Given the description of an element on the screen output the (x, y) to click on. 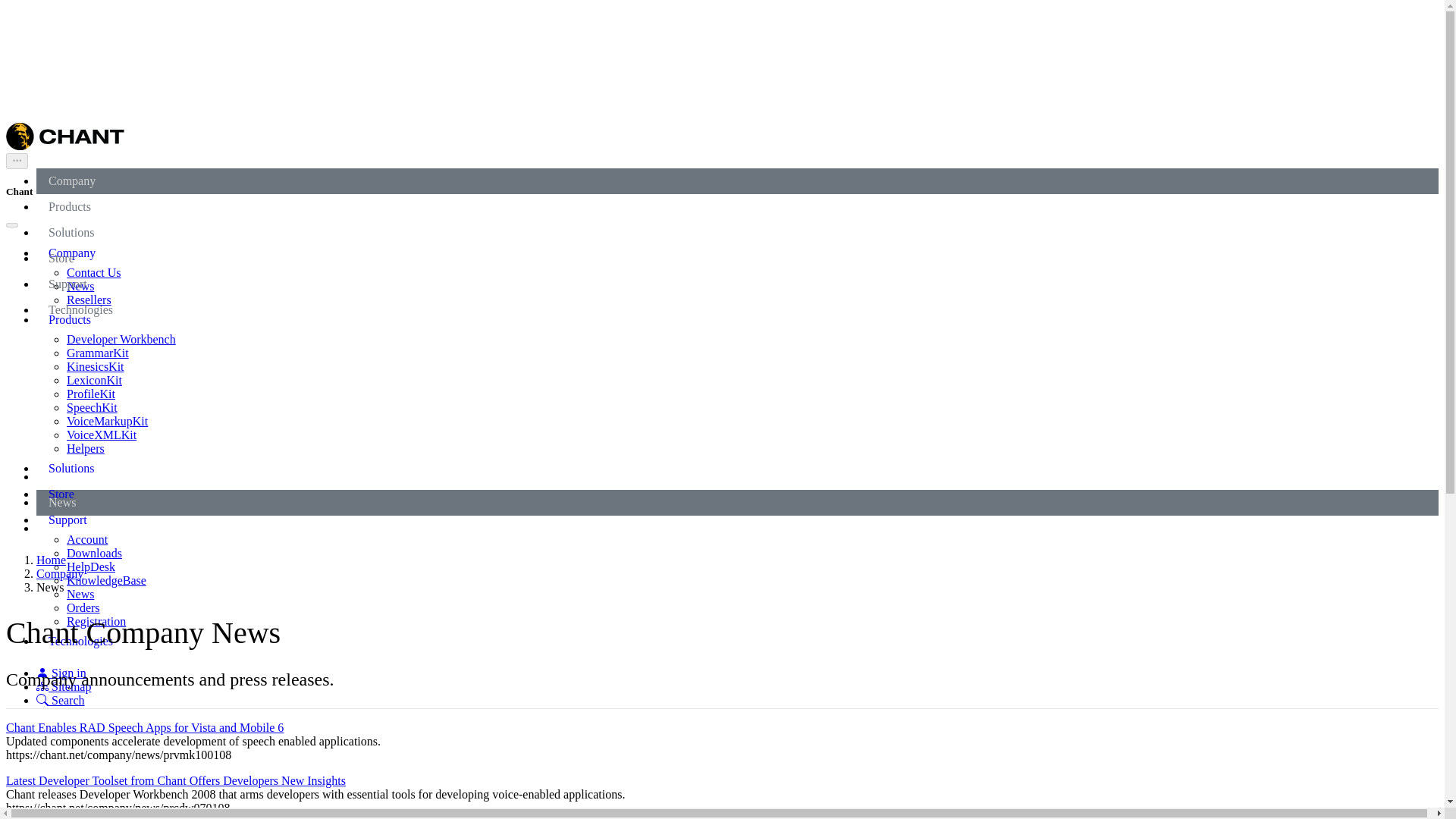
Contact Us (93, 272)
Sign in (60, 672)
Sitemap (63, 686)
News (80, 594)
SpeechKit (91, 407)
Sitemap (63, 686)
VoiceXMLKit (101, 434)
KnowledgeBase (106, 580)
Sign in (60, 672)
Resellers (89, 299)
KinesicsKit (94, 366)
Chant Enables RAD Speech Apps for Vista and Mobile 6 (144, 727)
VoiceMarkupKit (107, 420)
ProfileKit (90, 393)
